Given the description of an element on the screen output the (x, y) to click on. 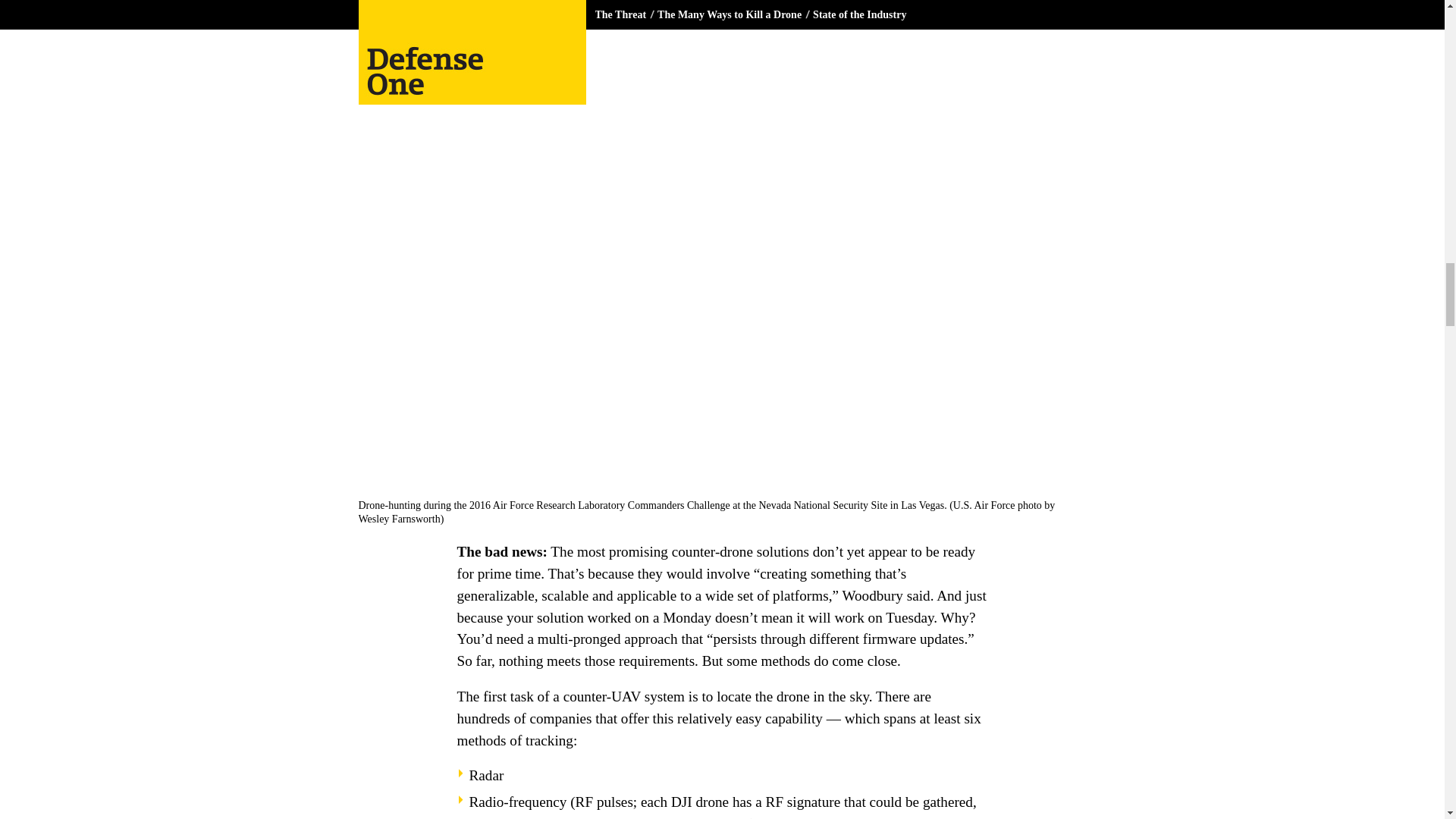
Aeroscope (626, 817)
